Given the description of an element on the screen output the (x, y) to click on. 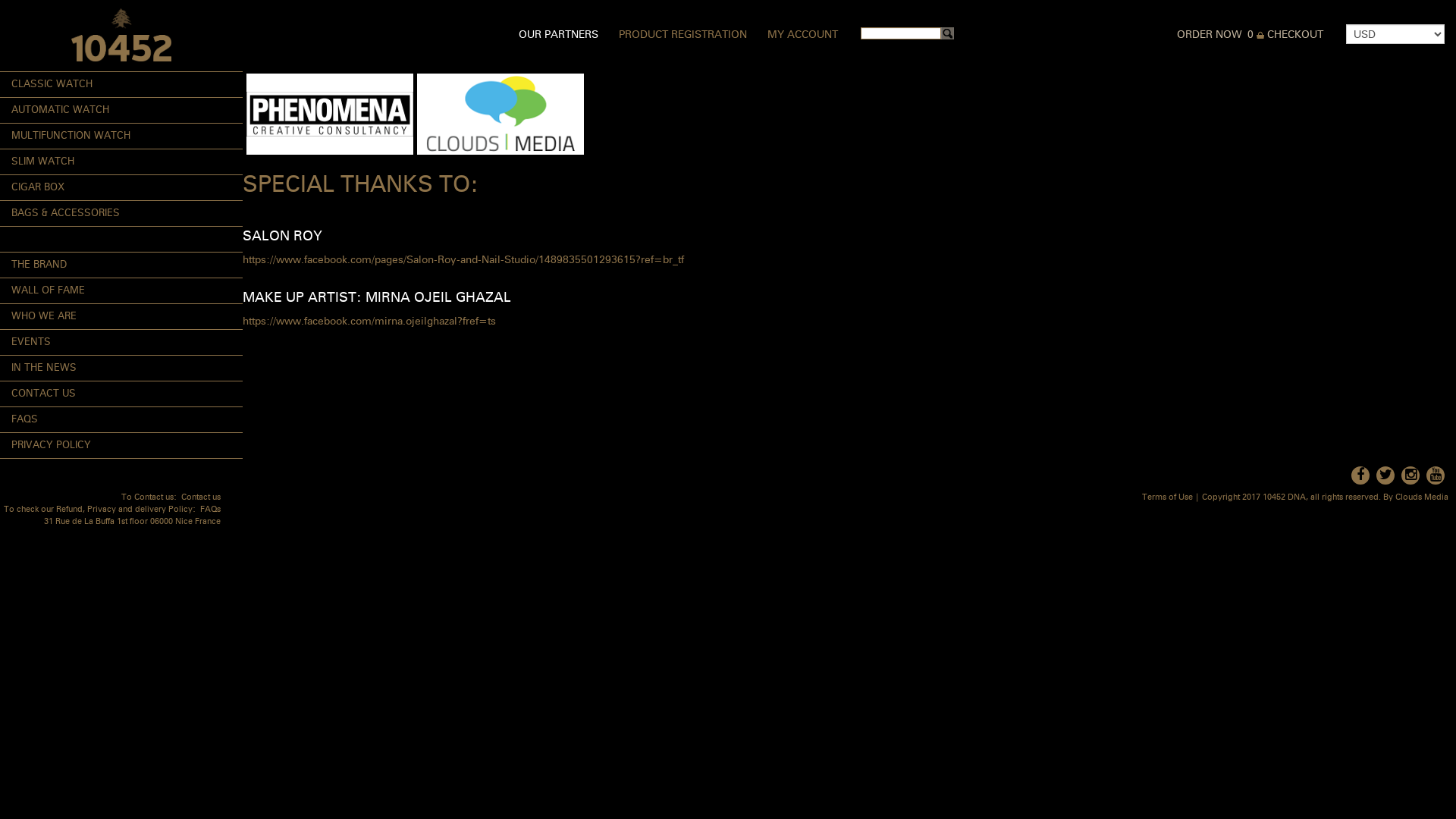
Instagram Element type: hover (1410, 475)
Facebook Element type: hover (1360, 475)
EVENTS Element type: text (121, 341)
AUTOMATIC WATCH Element type: text (121, 109)
MY ACCOUNT Element type: text (802, 34)
FAQs Element type: text (210, 509)
CLASSIC WATCH Element type: text (121, 84)
WALL OF FAME Element type: text (121, 290)
Youtube Element type: hover (1435, 475)
Contact us Element type: text (200, 497)
Terms of Use Element type: text (1167, 497)
CHECKOUT Element type: text (1295, 34)
Skip to main content Element type: text (49, 0)
Save Element type: text (18, 12)
ORDER NOW Element type: text (1209, 34)
Clouds Media Element type: text (1421, 497)
SLIM WATCH Element type: text (121, 161)
Home Element type: hover (121, 34)
PRIVACY POLICY Element type: text (121, 445)
https://www.facebook.com/mirna.ojeilghazal?fref=ts Element type: text (368, 321)
CIGAR BOX Element type: text (121, 187)
Twitter Element type: hover (1385, 475)
PRODUCT REGISTRATION Element type: text (682, 34)
MULTIFUNCTION WATCH Element type: text (121, 135)
FAQS Element type: text (121, 419)
CONTACT US Element type: text (121, 393)
WHO WE ARE Element type: text (121, 316)
BAGS & ACCESSORIES Element type: text (121, 212)
THE BRAND Element type: text (121, 264)
IN THE NEWS Element type: text (121, 367)
OUR PARTNERS Element type: text (558, 34)
